Given the description of an element on the screen output the (x, y) to click on. 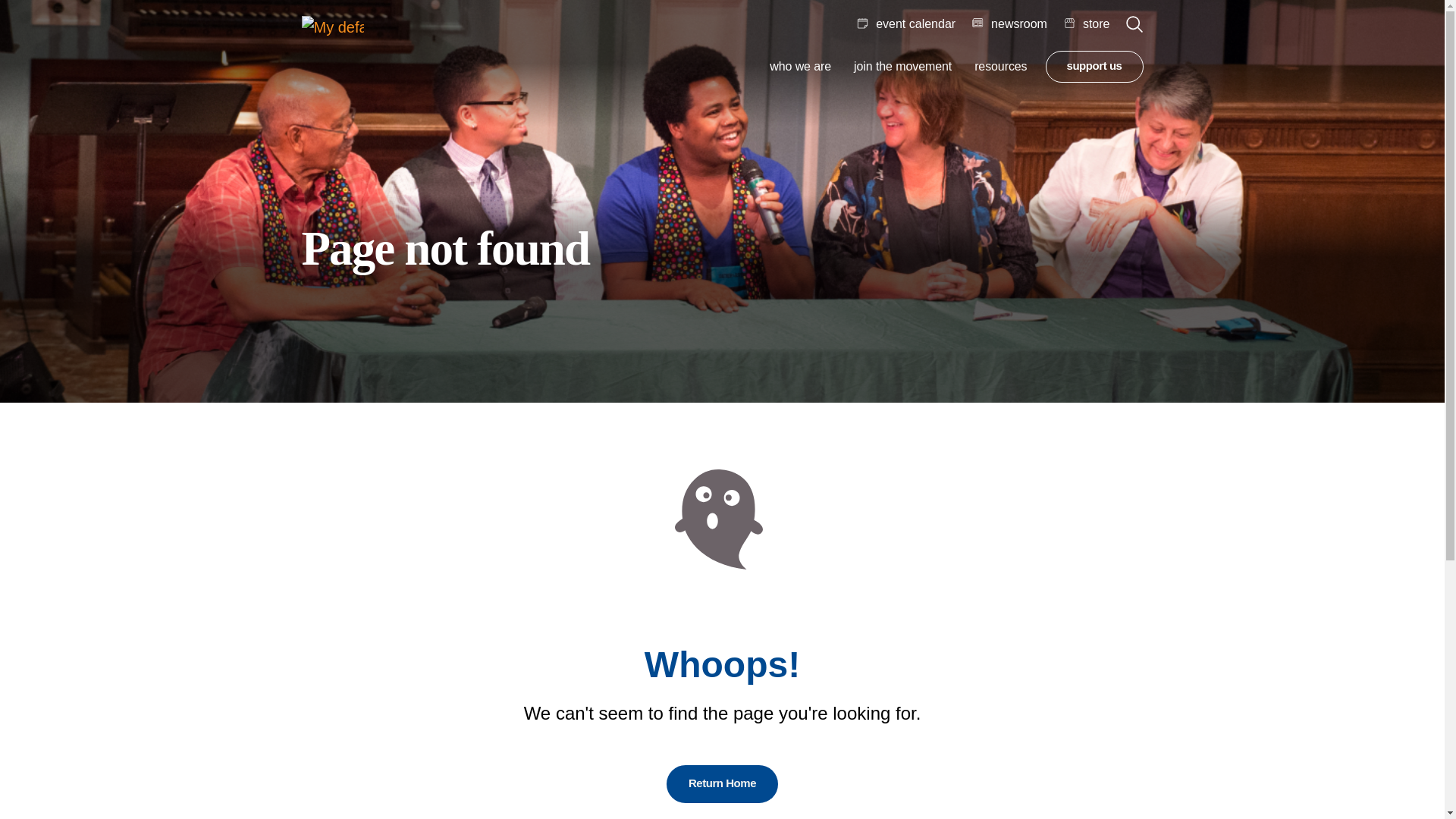
store (1086, 23)
Return Home (721, 783)
join the movement (902, 66)
Skip to main content (24, 15)
support us (1093, 66)
who we are (800, 66)
newsroom (1009, 23)
join the movement (902, 66)
event calendar (906, 23)
who we are (800, 66)
